Given the description of an element on the screen output the (x, y) to click on. 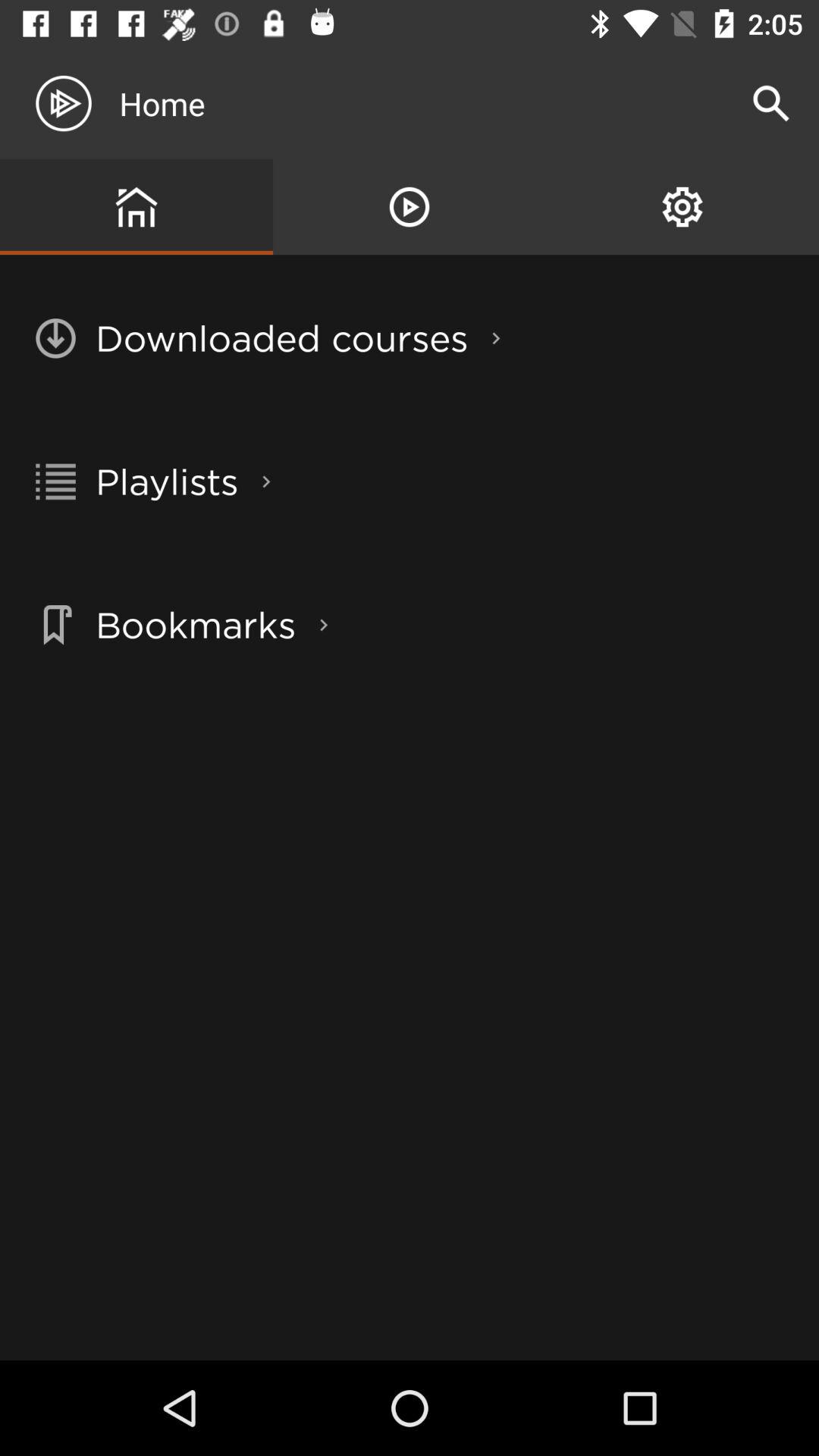
click item above downloaded courses item (409, 206)
